Given the description of an element on the screen output the (x, y) to click on. 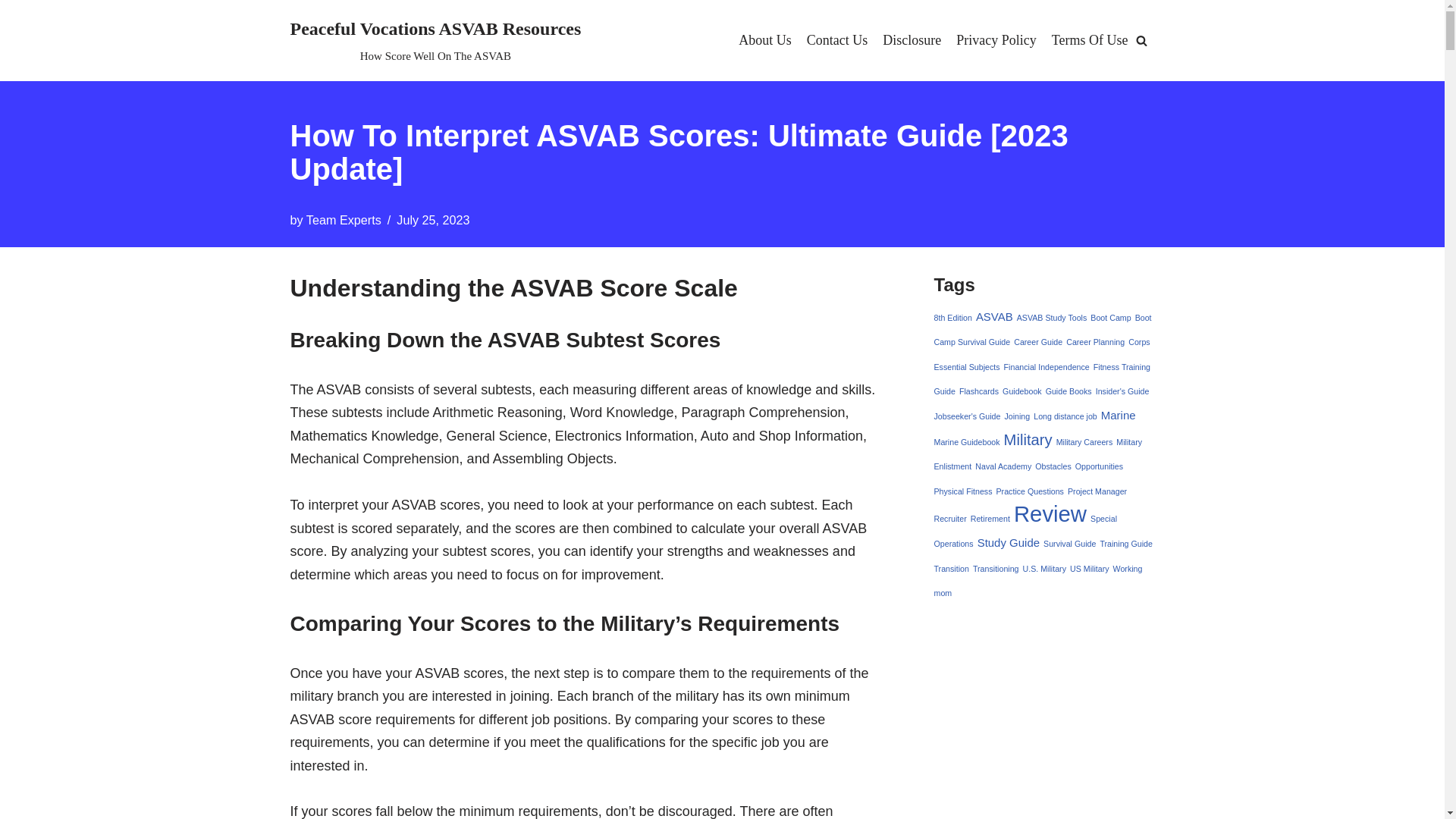
Boot Camp (1110, 317)
Terms Of Use (1089, 40)
About Us (765, 40)
Posts by Team Experts (343, 219)
ASVAB Study Tools (1051, 317)
Disclosure (911, 40)
8th Edition (953, 317)
Privacy Policy (996, 40)
Boot Camp Survival Guide (1042, 329)
Skip to content (11, 31)
